Given the description of an element on the screen output the (x, y) to click on. 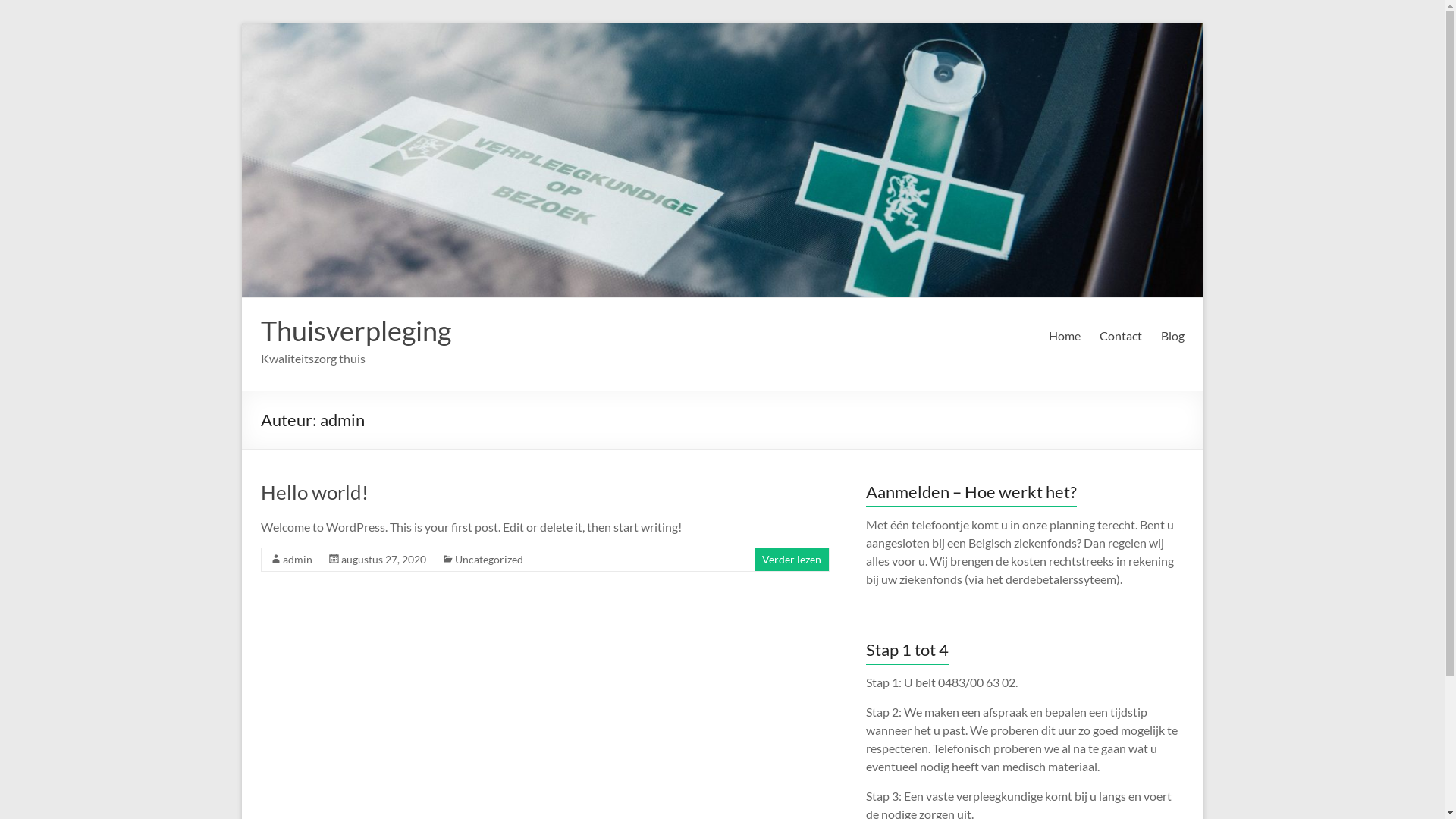
Uncategorized Element type: text (489, 558)
Home Element type: text (1063, 335)
admin Element type: text (296, 558)
Verder lezen Element type: text (790, 558)
Contact Element type: text (1120, 335)
Ga naar inhoud Element type: text (241, 21)
Hello world! Element type: text (314, 492)
Blog Element type: text (1171, 335)
augustus 27, 2020 Element type: text (383, 558)
Thuisverpleging Element type: text (355, 330)
